Given the description of an element on the screen output the (x, y) to click on. 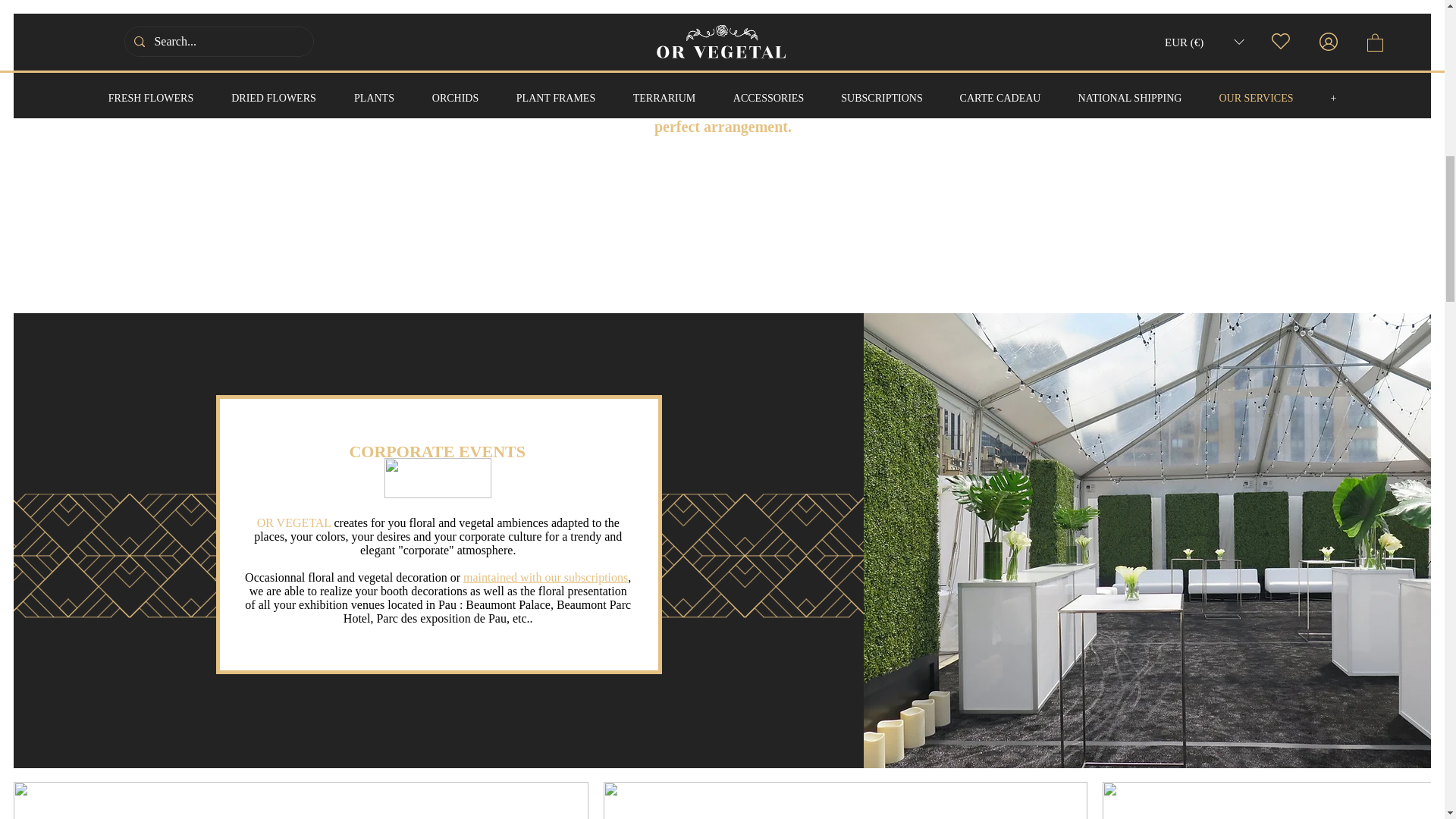
maintained with our subscriptions (545, 576)
OR VEGETAL  (295, 522)
